Given the description of an element on the screen output the (x, y) to click on. 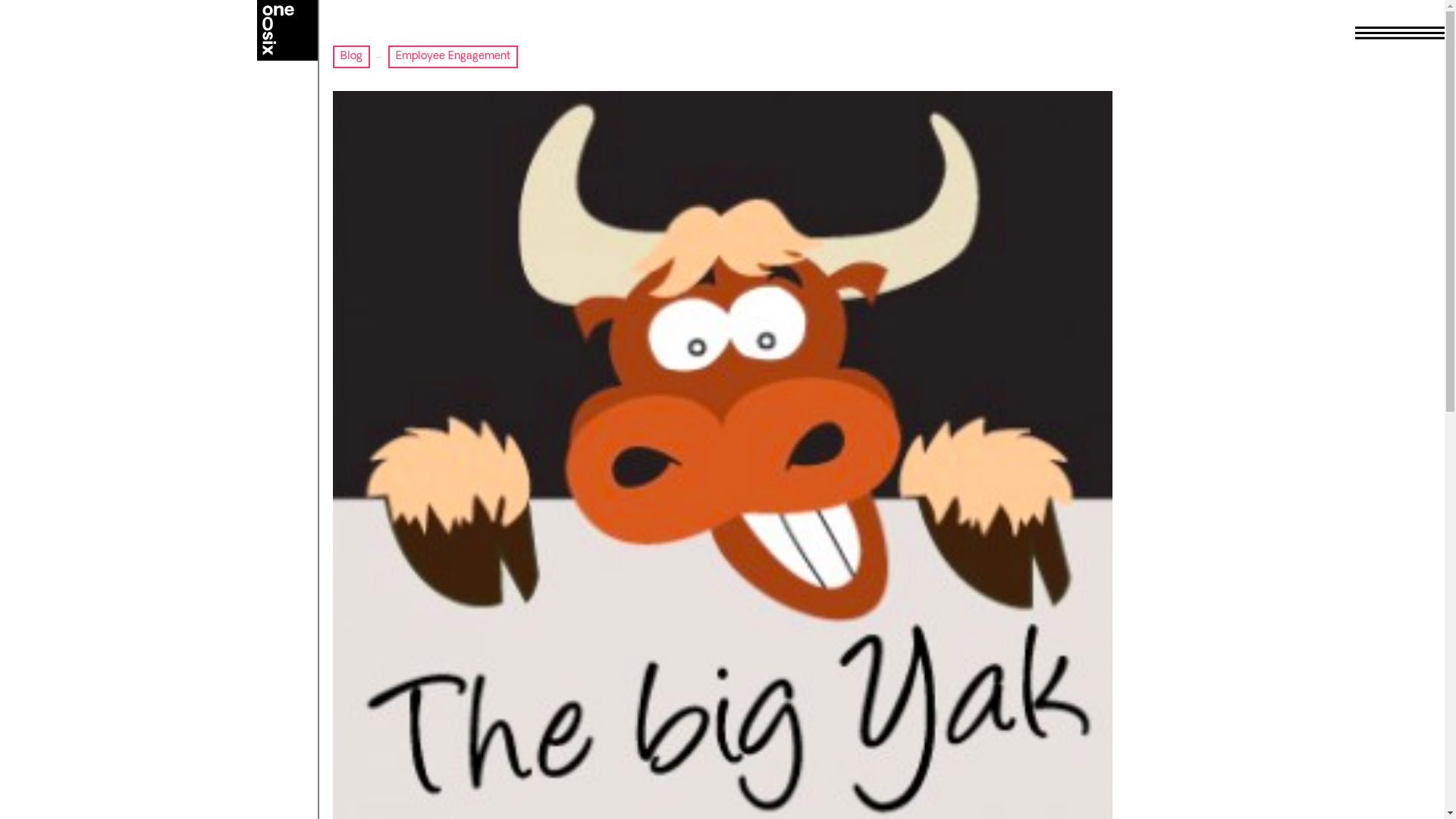
Employee Engagement Element type: text (452, 56)
Blog Element type: text (350, 56)
